Given the description of an element on the screen output the (x, y) to click on. 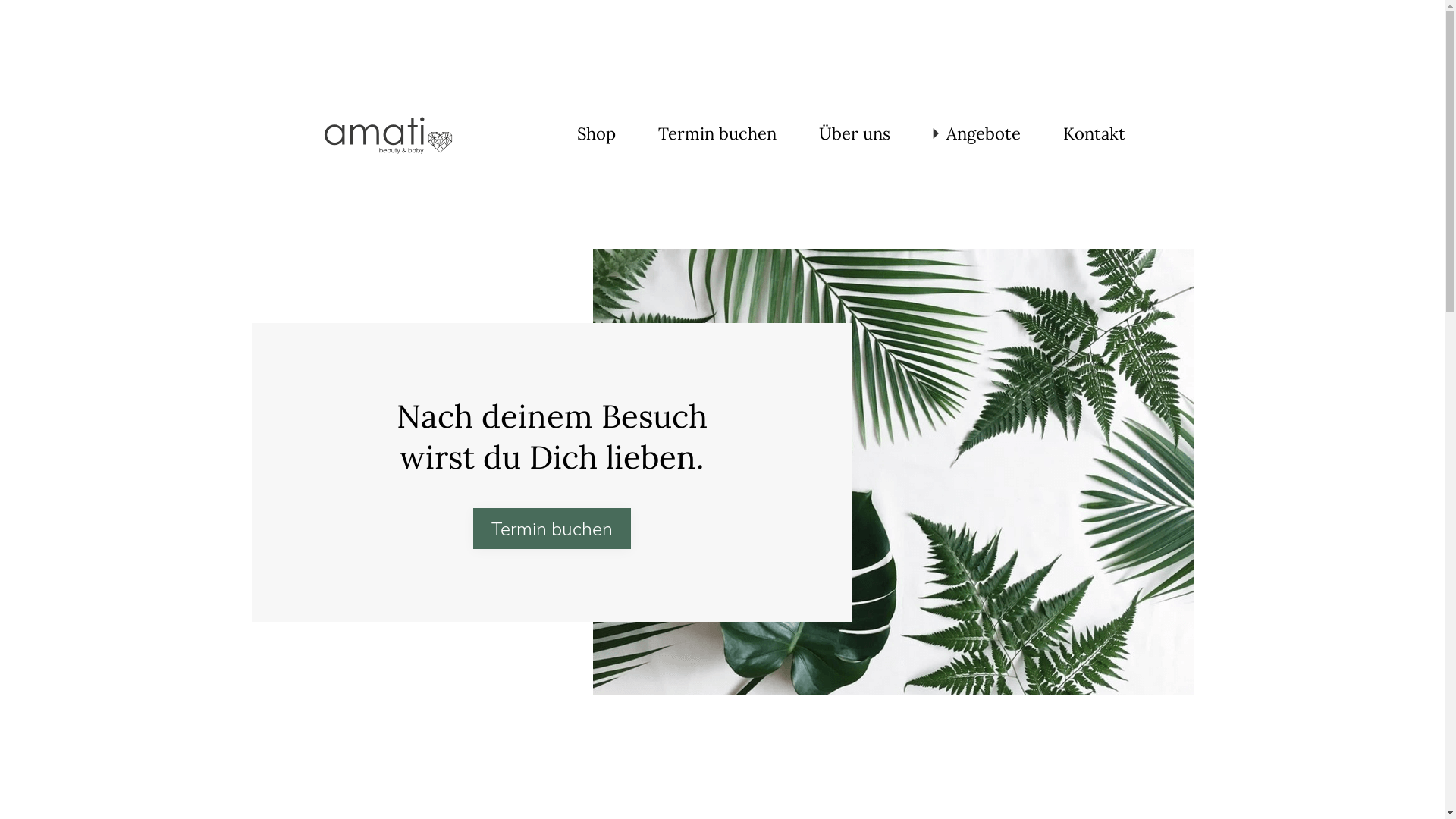
Shop Element type: text (596, 133)
Termin buchen Element type: text (551, 528)
Termin buchen Element type: text (717, 133)
Kontakt Element type: text (1094, 133)
